Given the description of an element on the screen output the (x, y) to click on. 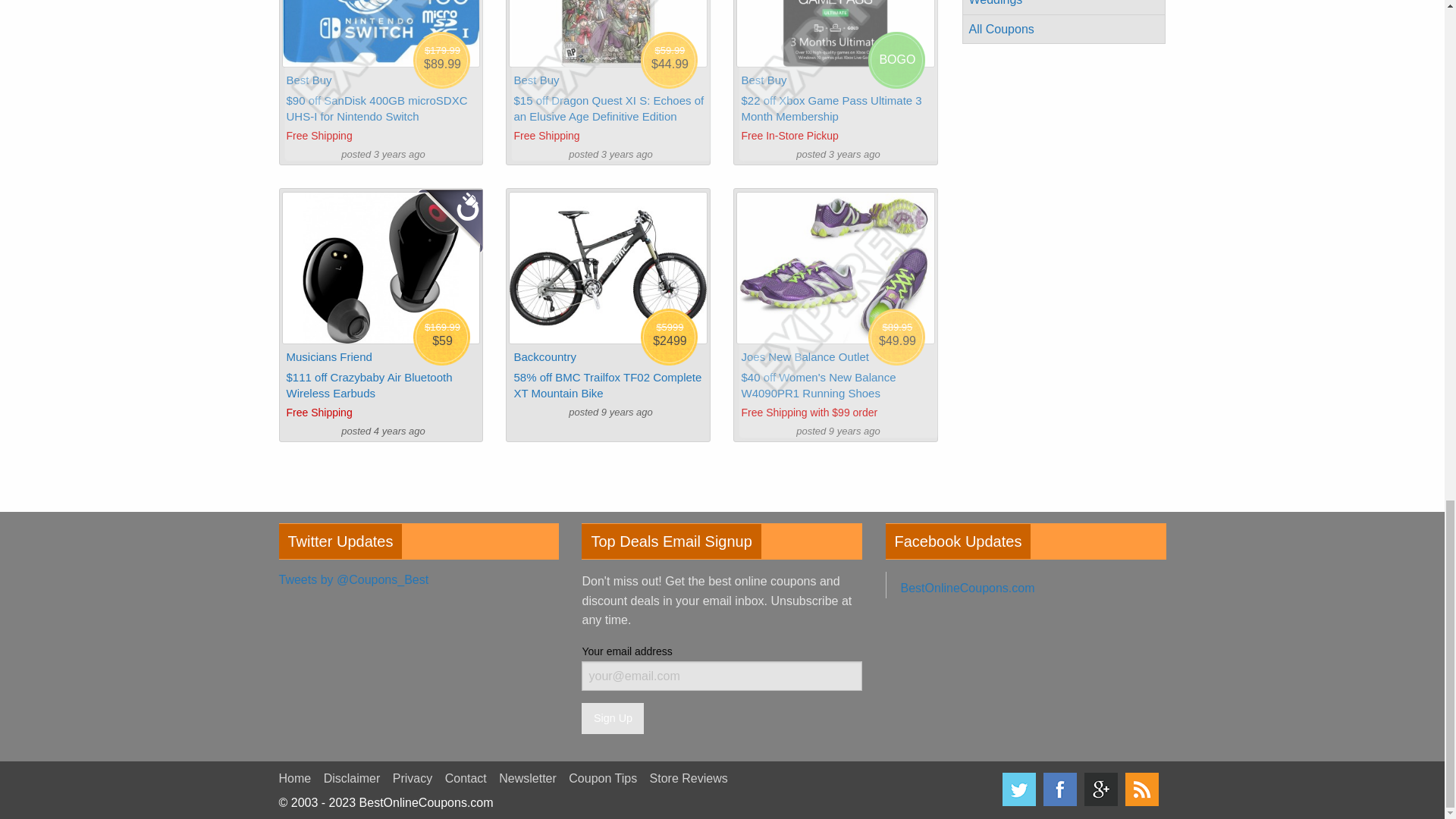
Backcountry Coupons (544, 356)
Musicians Friend Coupons (329, 356)
Joes New Balance Outlet Coupons (804, 356)
Sign Up (611, 717)
Best Buy Coupons (536, 79)
Best Buy Coupons (763, 79)
Best Buy Coupons (308, 79)
